Given the description of an element on the screen output the (x, y) to click on. 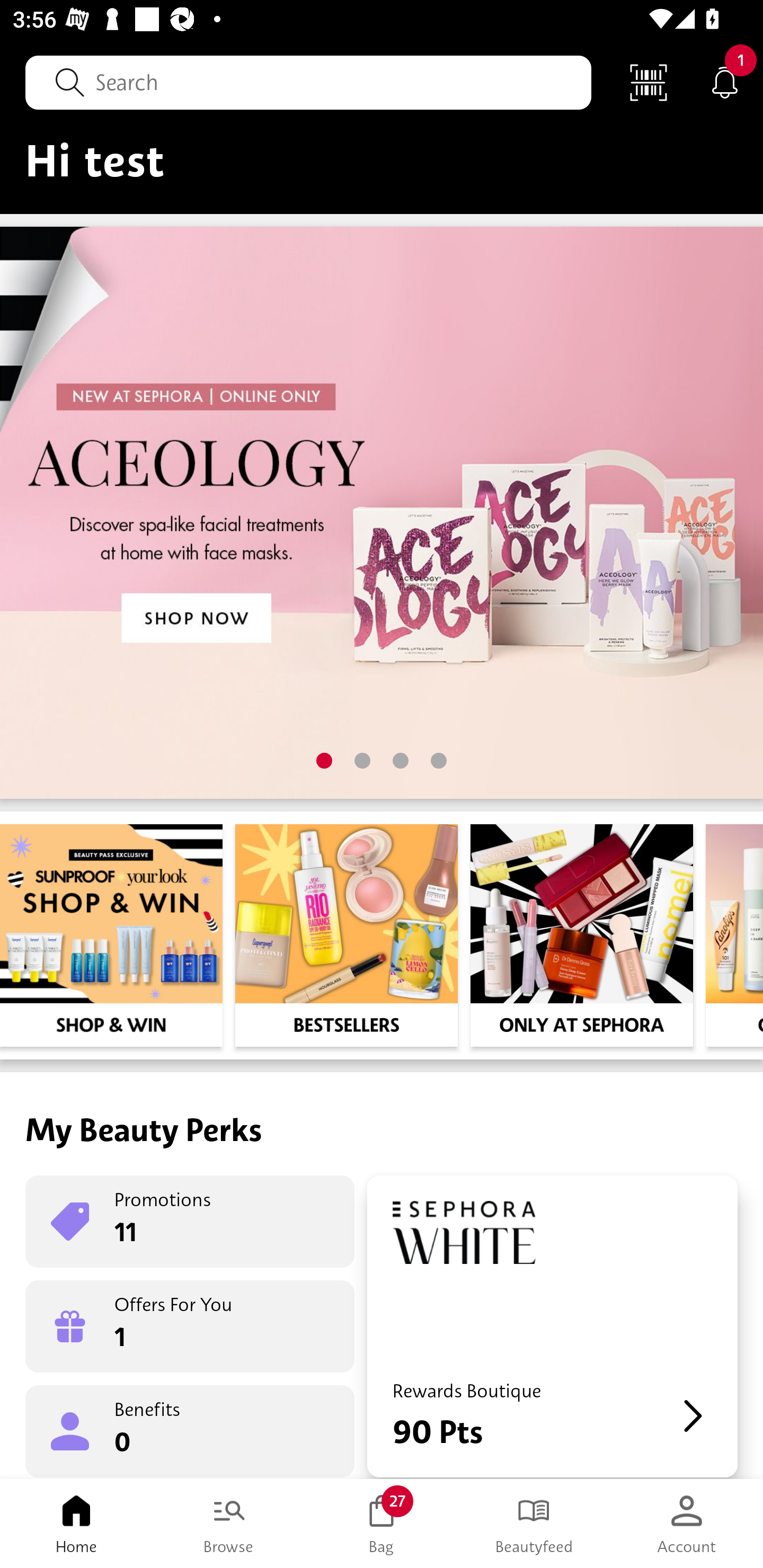
Scan Code (648, 81)
Notifications (724, 81)
Search (308, 81)
Promotions 11 (189, 1221)
Rewards Boutique 90 Pts (552, 1326)
Offers For You 1 (189, 1326)
Benefits 0 (189, 1430)
Browse (228, 1523)
Bag 27 Bag (381, 1523)
Beautyfeed (533, 1523)
Account (686, 1523)
